Given the description of an element on the screen output the (x, y) to click on. 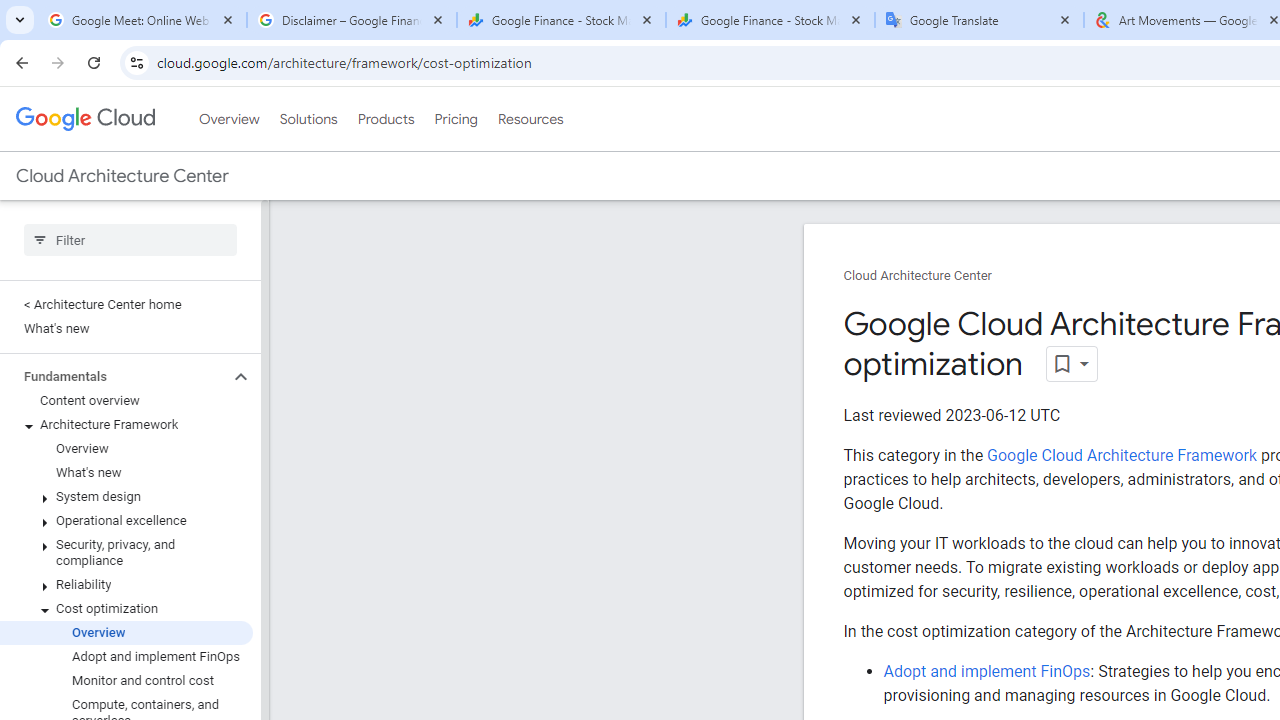
System design (126, 497)
Operational excellence (126, 520)
Products (385, 119)
Cloud Architecture Center (917, 276)
Solutions (308, 119)
Content overview (126, 400)
Type to filter (130, 239)
